Given the description of an element on the screen output the (x, y) to click on. 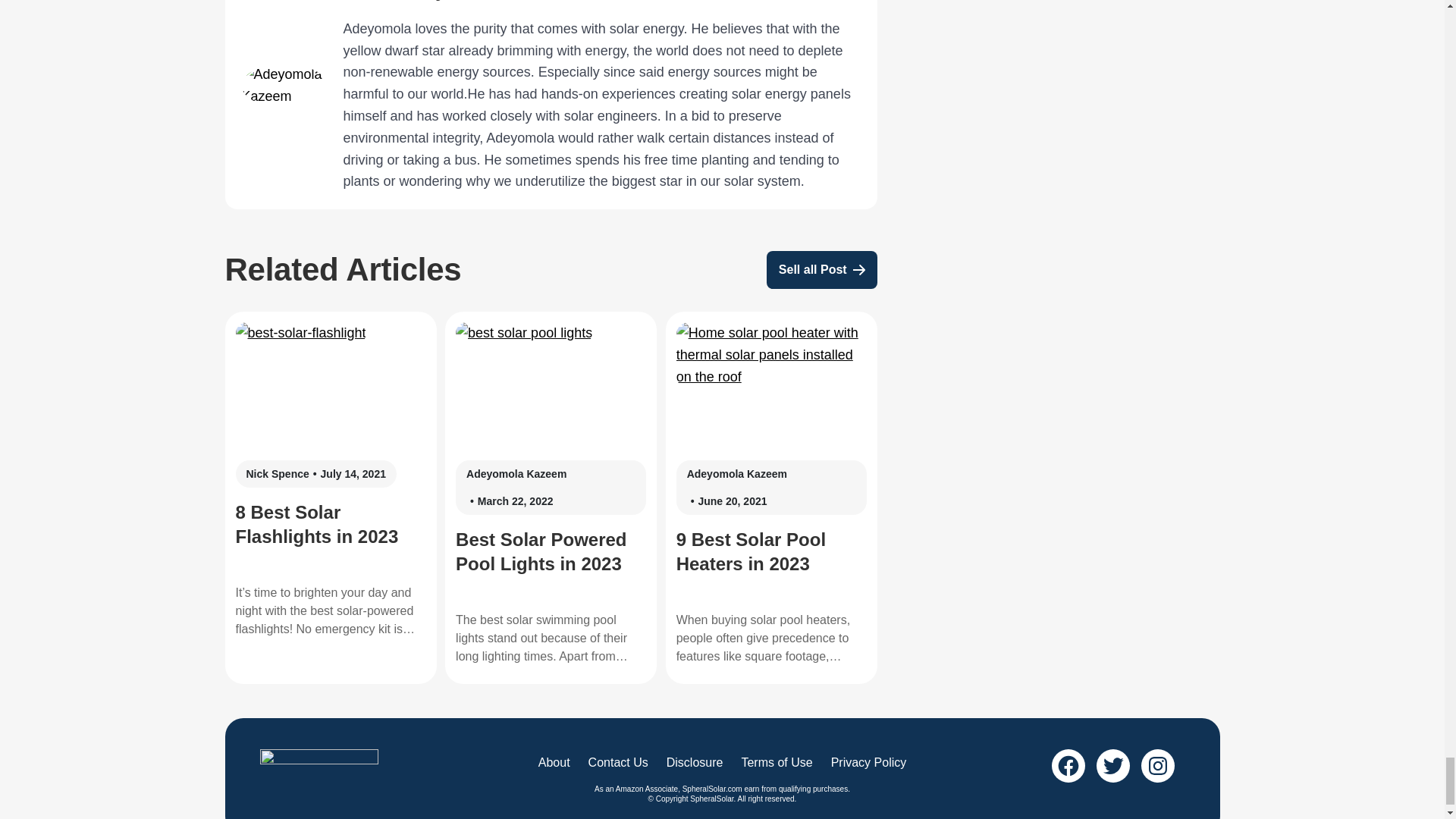
9 Best Solar Pool Heaters in 2023 (771, 354)
8 Best Solar Flashlights in 2023 (299, 332)
Best Solar Powered Pool Lights in 2023 (523, 332)
